Given the description of an element on the screen output the (x, y) to click on. 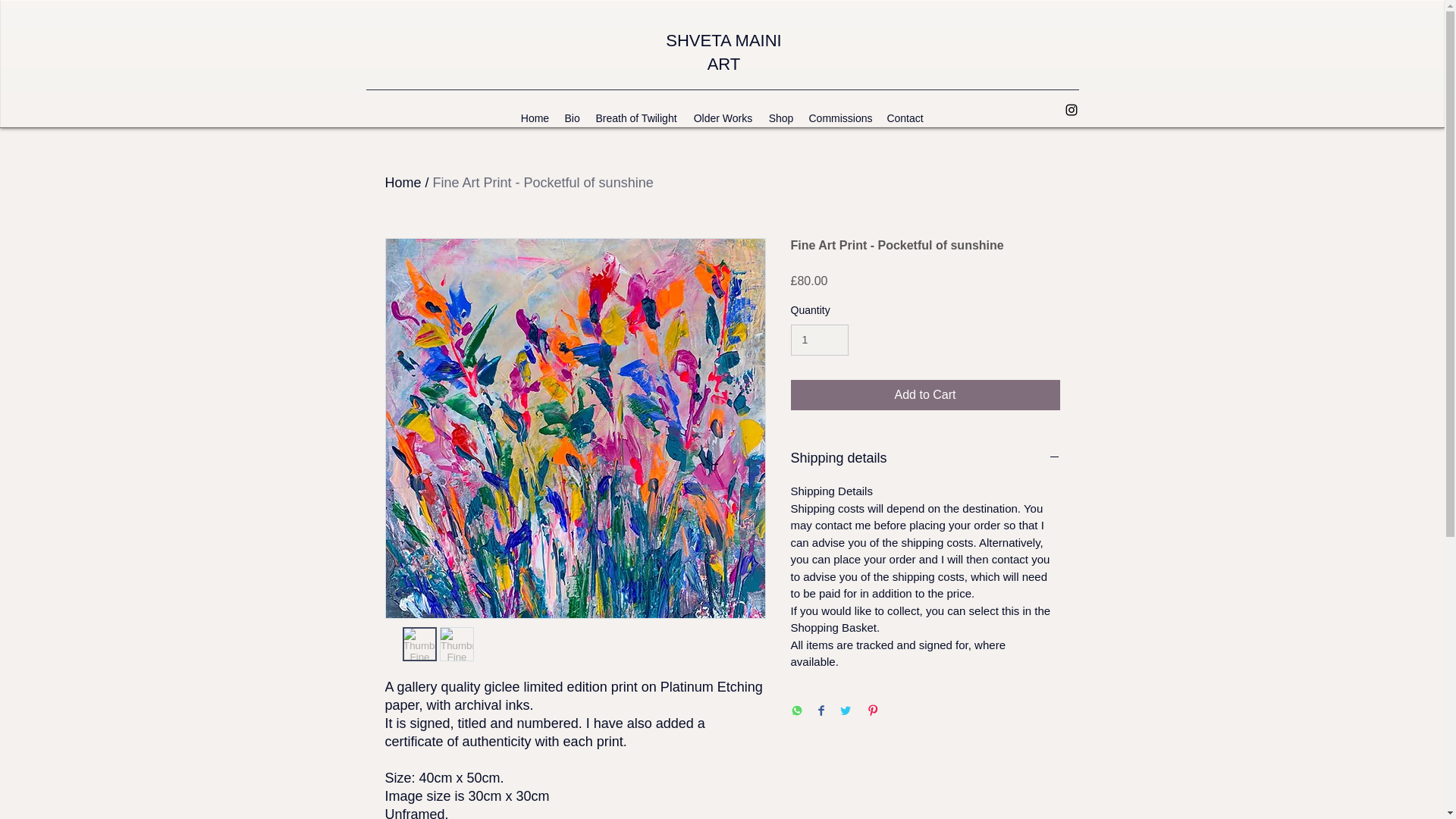
Contact (904, 118)
Shipping details (924, 458)
Add to Cart (924, 395)
Commissions (838, 118)
1 (818, 339)
Home (534, 118)
Home (403, 182)
Older Works (723, 118)
Breath of Twilight (635, 118)
Shop (781, 118)
